Given the description of an element on the screen output the (x, y) to click on. 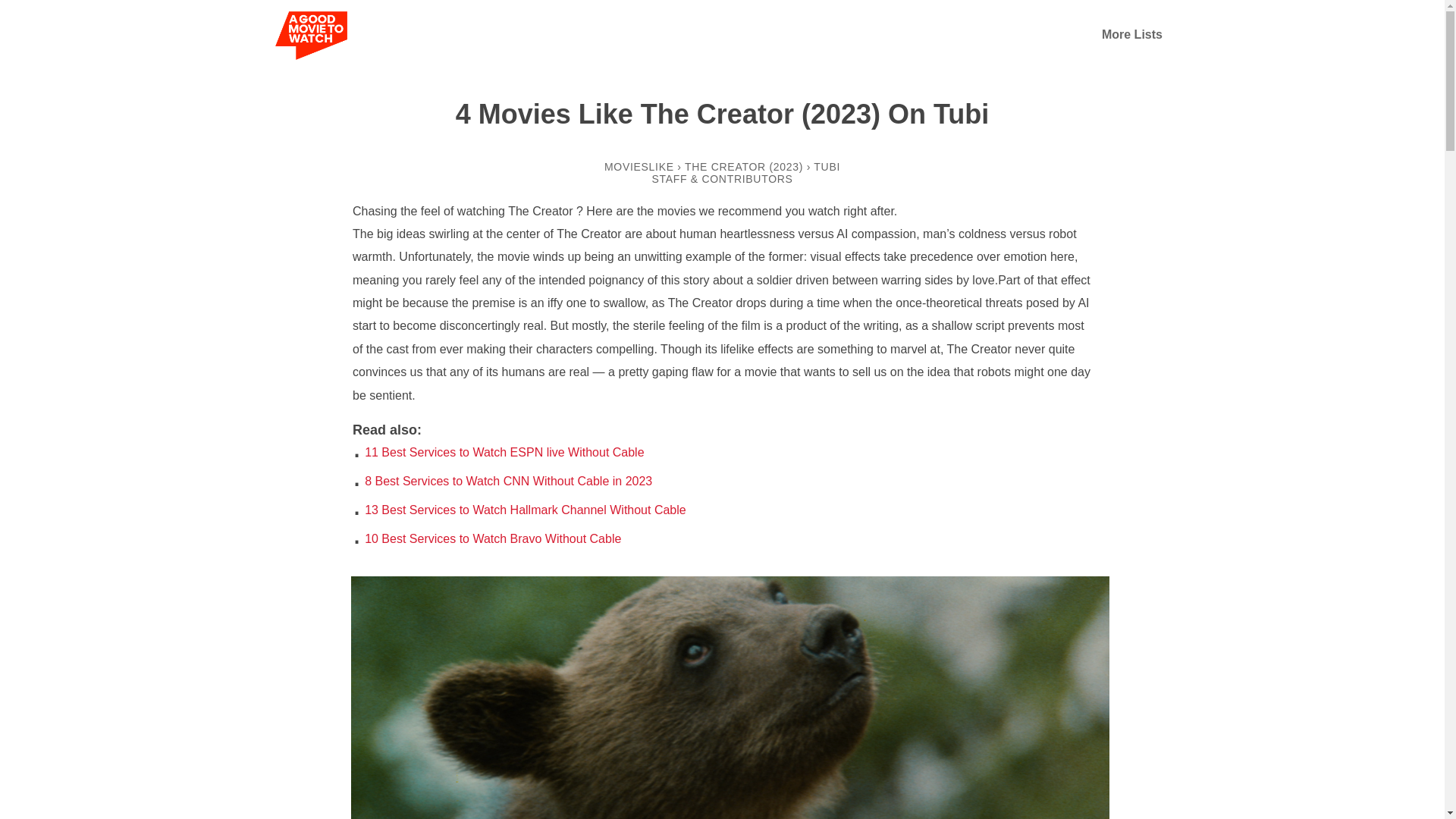
More Lists (1132, 34)
